Given the description of an element on the screen output the (x, y) to click on. 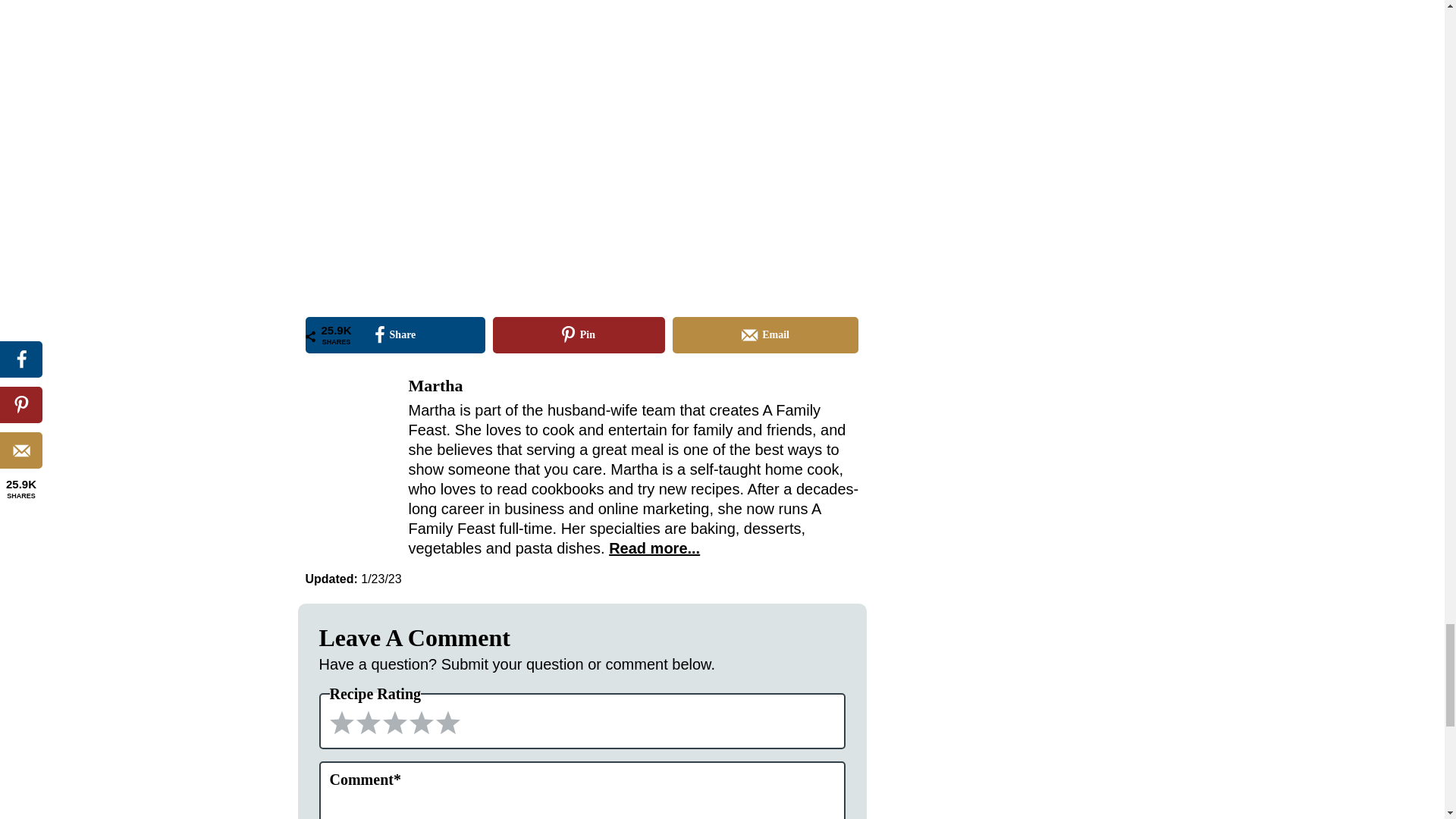
Share on Facebook (394, 334)
Save to Pinterest (579, 334)
Send over email (765, 334)
